Given the description of an element on the screen output the (x, y) to click on. 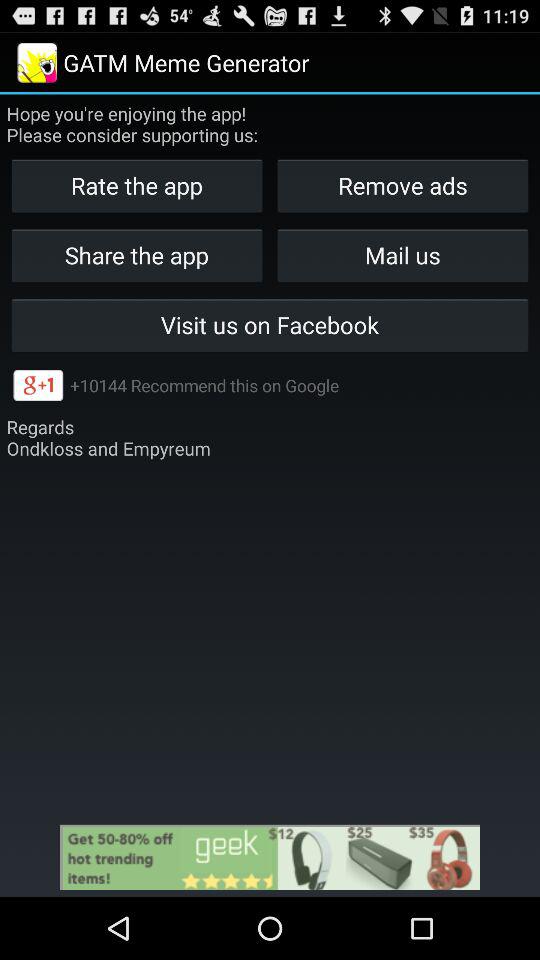
choose the remove ads item (402, 185)
